Given the description of an element on the screen output the (x, y) to click on. 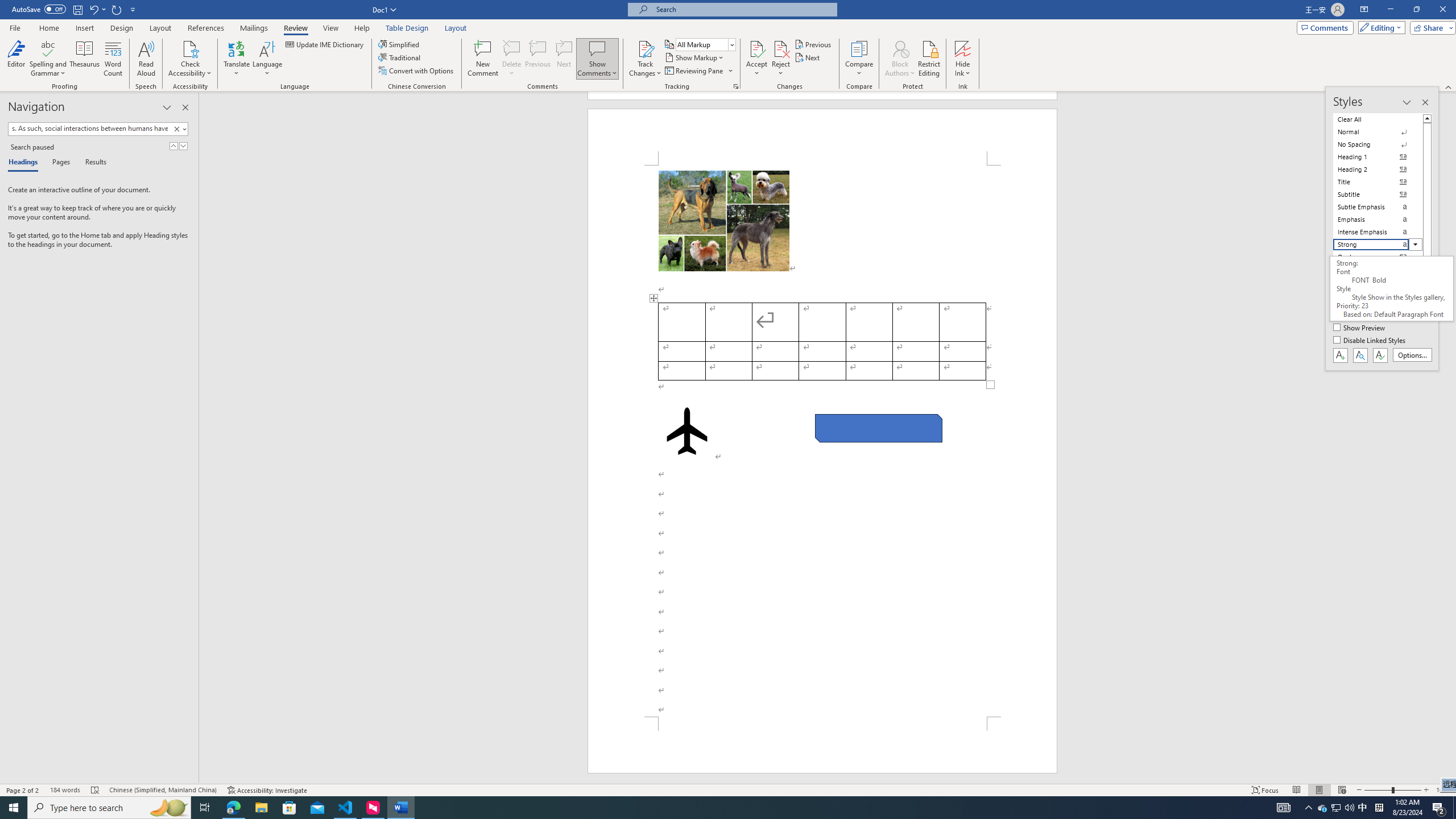
Subtitle (1377, 194)
Subtle Emphasis (1377, 206)
List Paragraph (1377, 319)
Zoom (1392, 790)
